Given the description of an element on the screen output the (x, y) to click on. 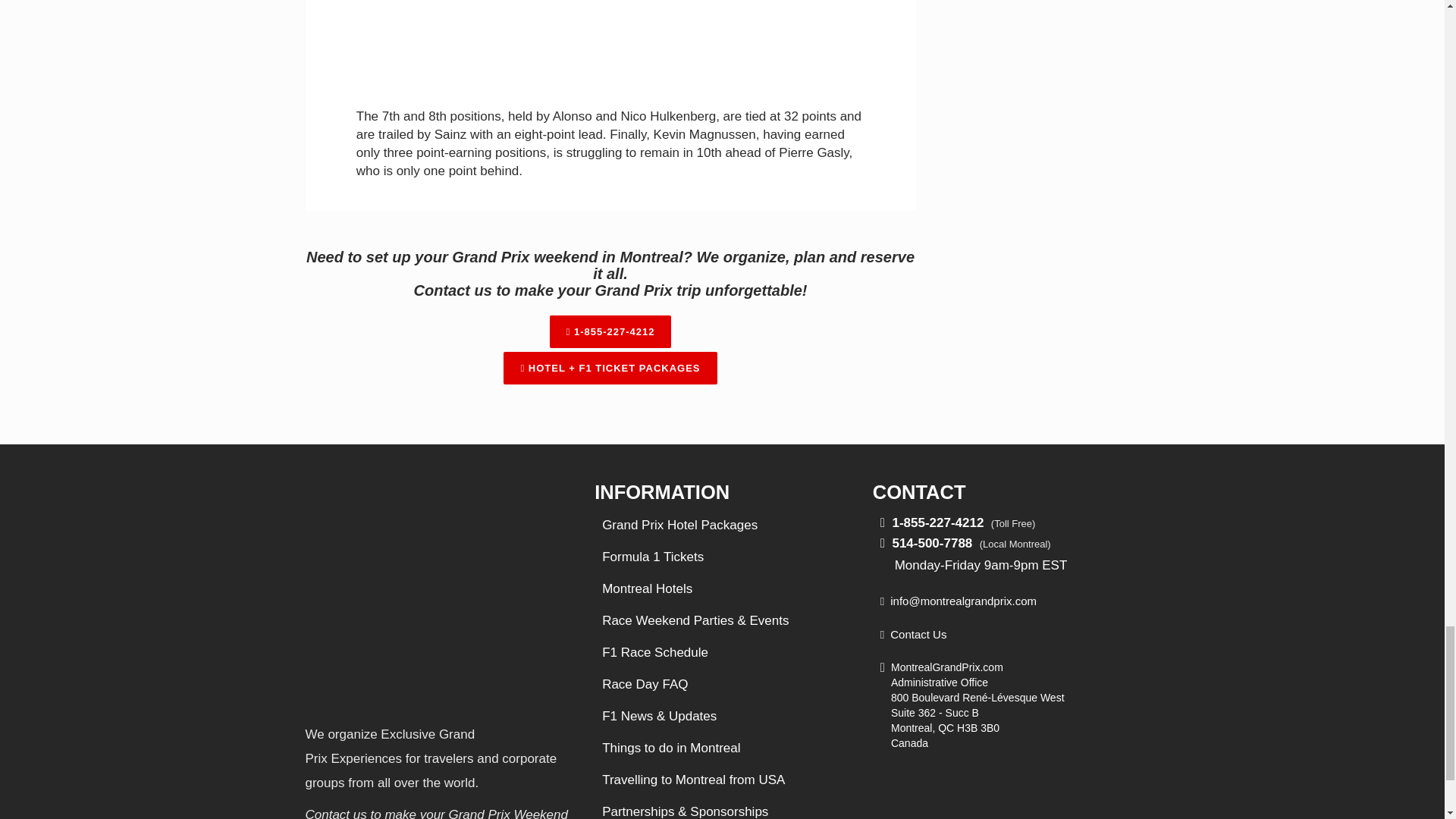
1-855-227-4212 (610, 331)
Grand Prix Hotel Packages (679, 524)
1-855-227-4212 (937, 522)
514-500-7788 (931, 543)
Race Day FAQ (644, 684)
Travelling to Montreal from USA (693, 780)
F1 Race Schedule (654, 652)
Formula 1 Tickets (652, 556)
Things to do in Montreal (670, 748)
Montreal Hotels (647, 588)
